Given the description of an element on the screen output the (x, y) to click on. 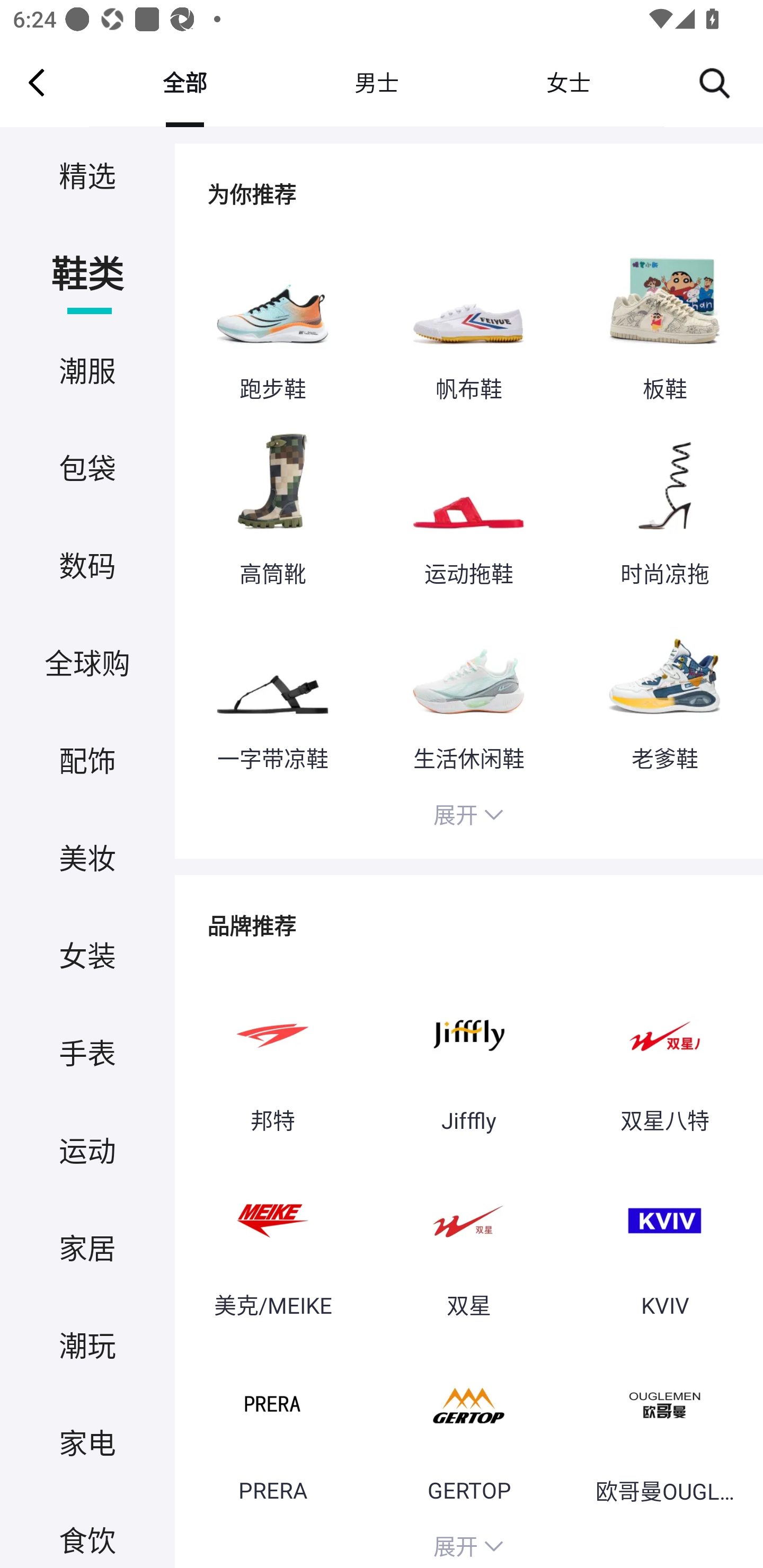
Navigate up (36, 82)
全部 (184, 82)
男士 (376, 82)
女士 (568, 82)
跑步鞋 (272, 325)
帆布鞋 (468, 325)
板鞋 (664, 325)
高筒靴 (272, 510)
运动拖鞋 (468, 510)
时尚凉拖 (664, 510)
一字带凉鞋 (272, 694)
生活休闲鞋 (468, 694)
老爹鞋 (664, 694)
展开  (468, 817)
邦特 (272, 1056)
Jifffly (468, 1056)
双星八特 (664, 1056)
美克/MEIKE (272, 1241)
双星 (468, 1241)
KVIV (664, 1241)
PRERA (272, 1426)
GERTOP (468, 1426)
欧哥曼OUGLEMEN (664, 1426)
展开  (468, 1543)
